Given the description of an element on the screen output the (x, y) to click on. 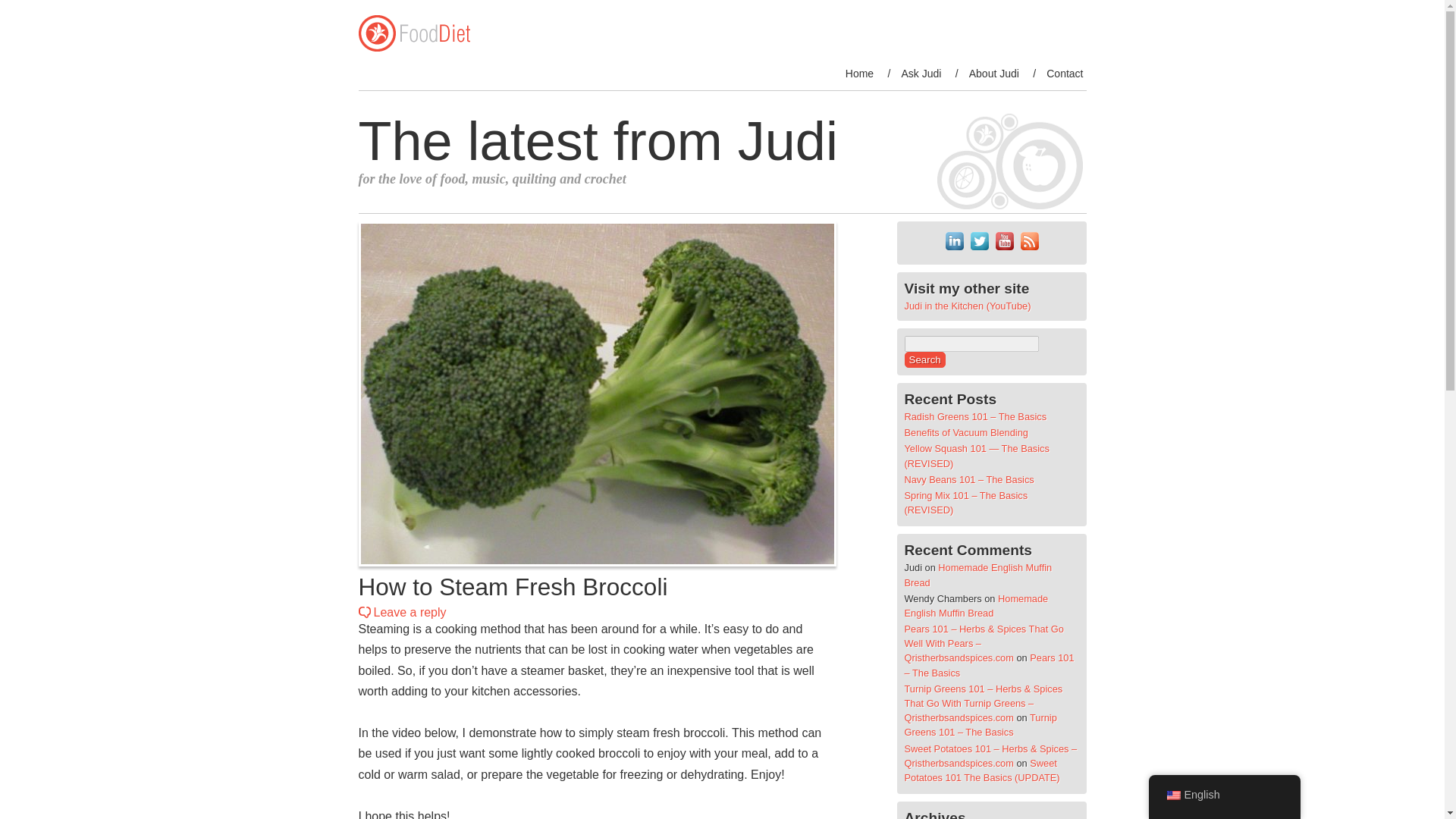
English (1224, 795)
Home (859, 73)
Benefits of Vacuum Blending (965, 432)
Visit Us On Twitter (978, 249)
English (1172, 795)
Visit Us On Youtube (1003, 249)
Homemade English Muffin Bread (976, 605)
Check Our Feed (1028, 249)
The latest from Judi (710, 140)
Search (924, 359)
Contact (1064, 73)
Leave a reply (408, 612)
Homemade English Muffin Bread (977, 574)
Visit Us On Linkedin (954, 249)
Ask Judi (920, 73)
